Given the description of an element on the screen output the (x, y) to click on. 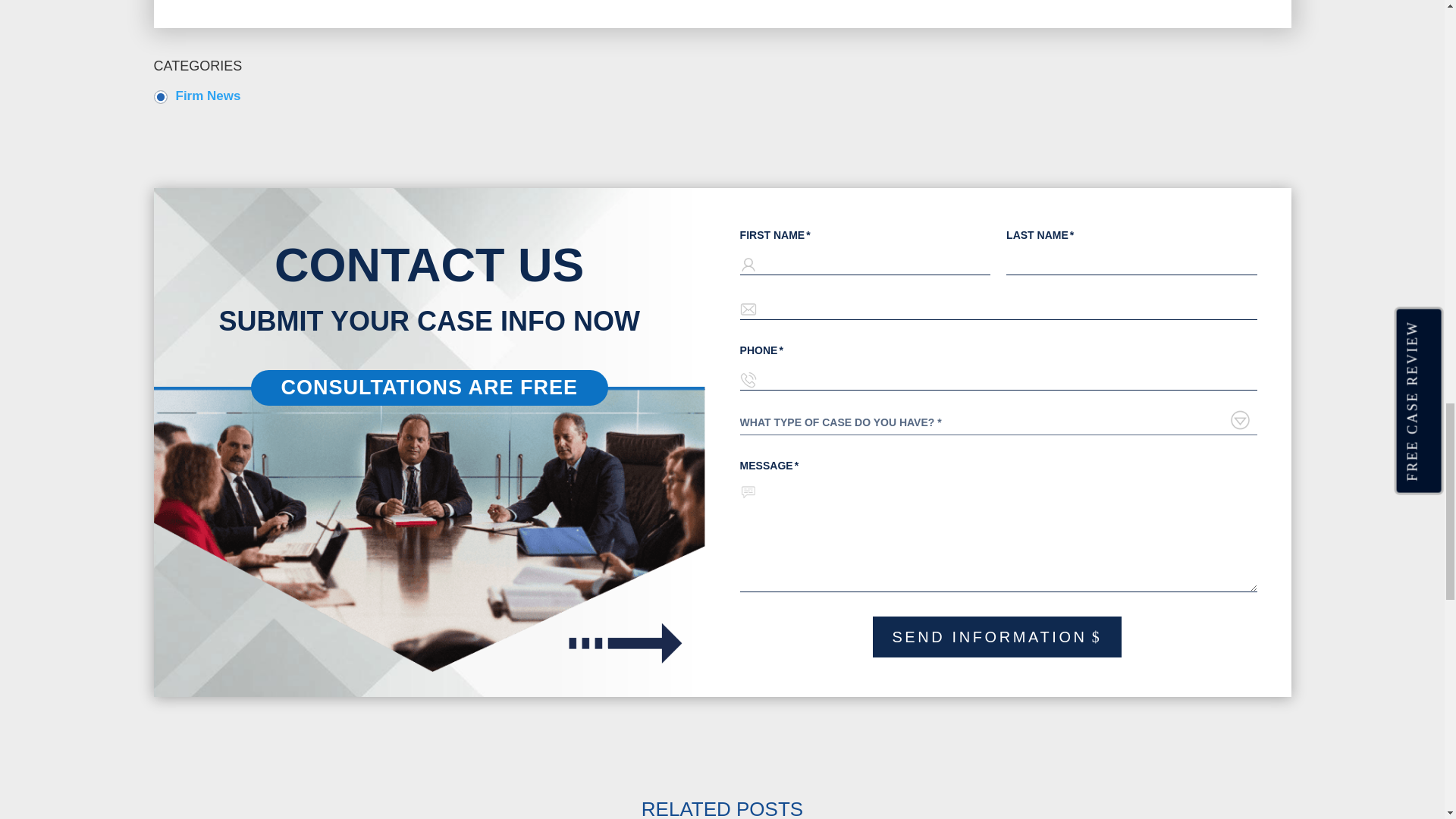
Group 2 (625, 642)
Maximum length: 99 characters. (864, 262)
